Given the description of an element on the screen output the (x, y) to click on. 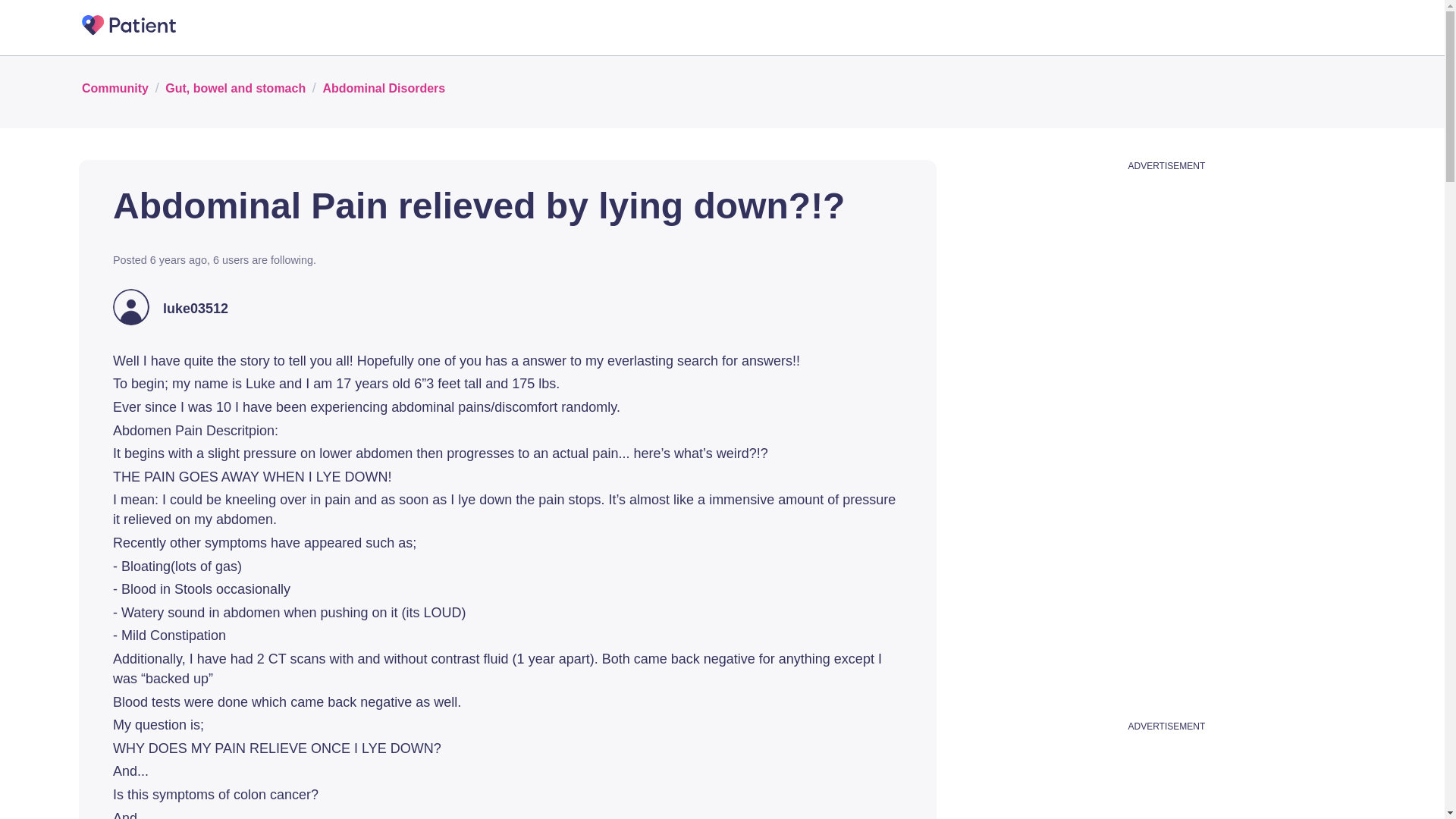
Gut, bowel and stomach (235, 87)
Community (114, 87)
View luke03512's profile (195, 309)
Abdominal Disorders (383, 87)
luke03512 (195, 309)
